Given the description of an element on the screen output the (x, y) to click on. 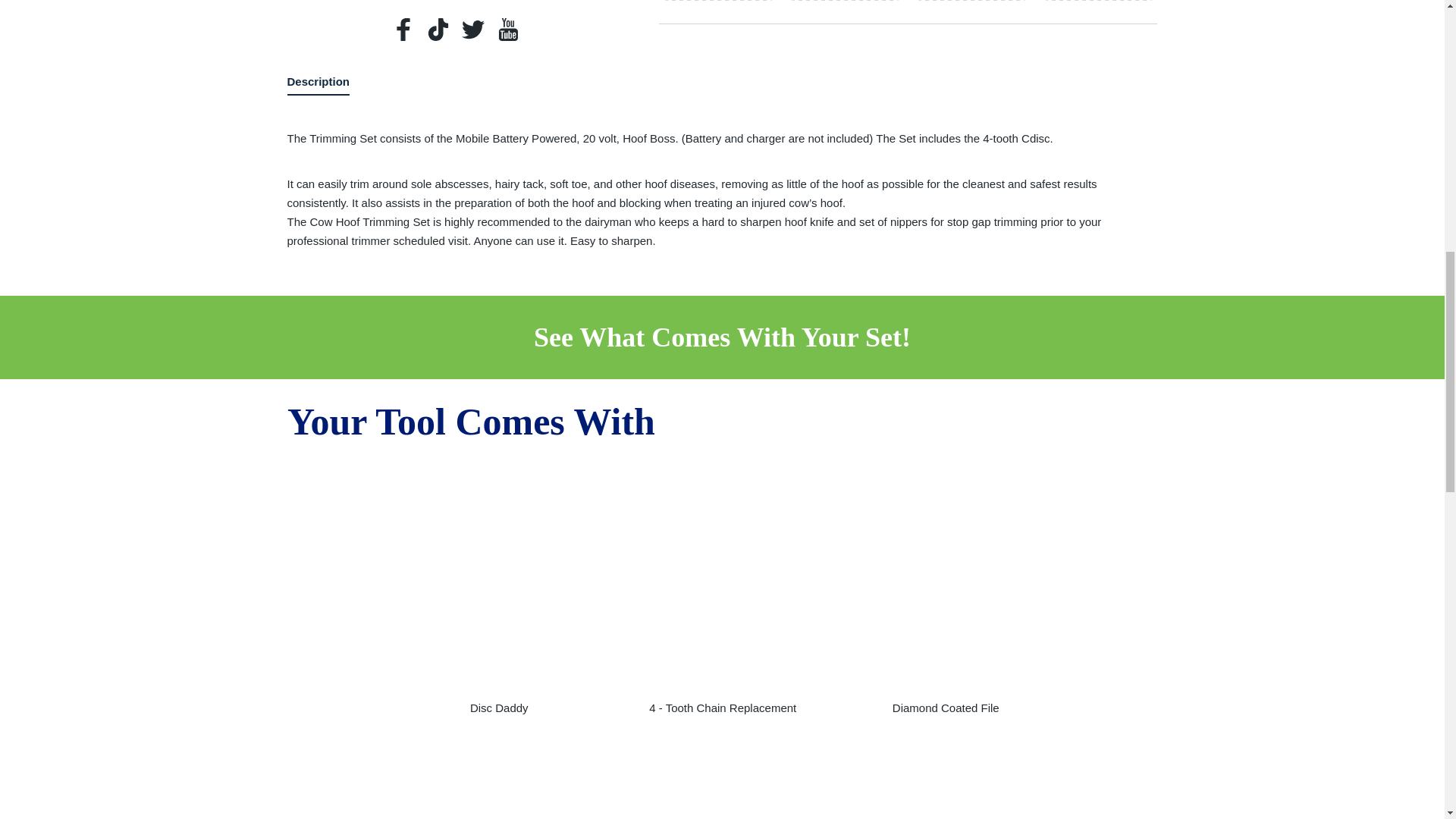
Diamond Coated File (945, 578)
4 - Tooth Chain Replacement (721, 578)
Disc Daddy (498, 578)
